Given the description of an element on the screen output the (x, y) to click on. 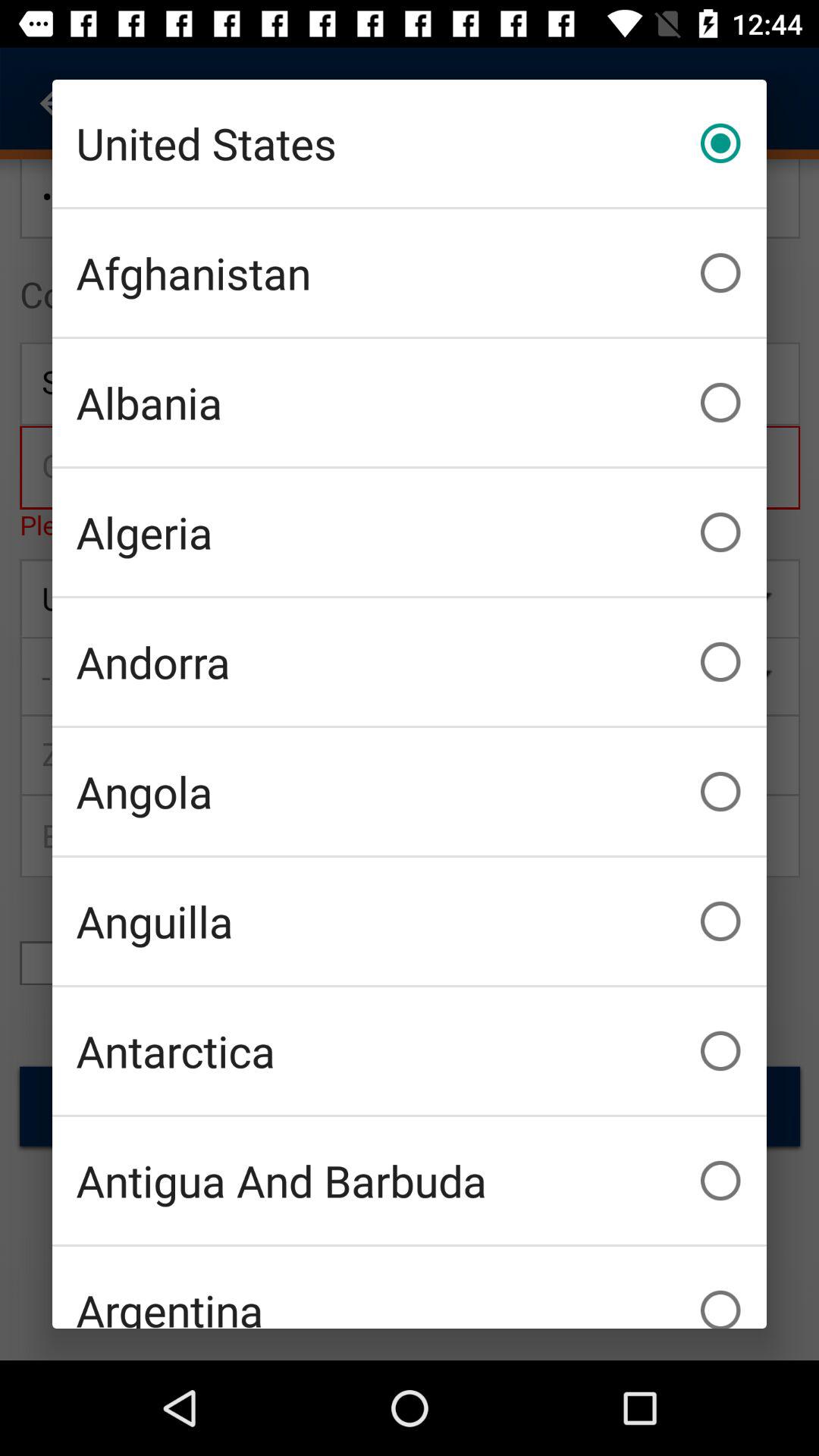
turn on the united states (409, 143)
